Given the description of an element on the screen output the (x, y) to click on. 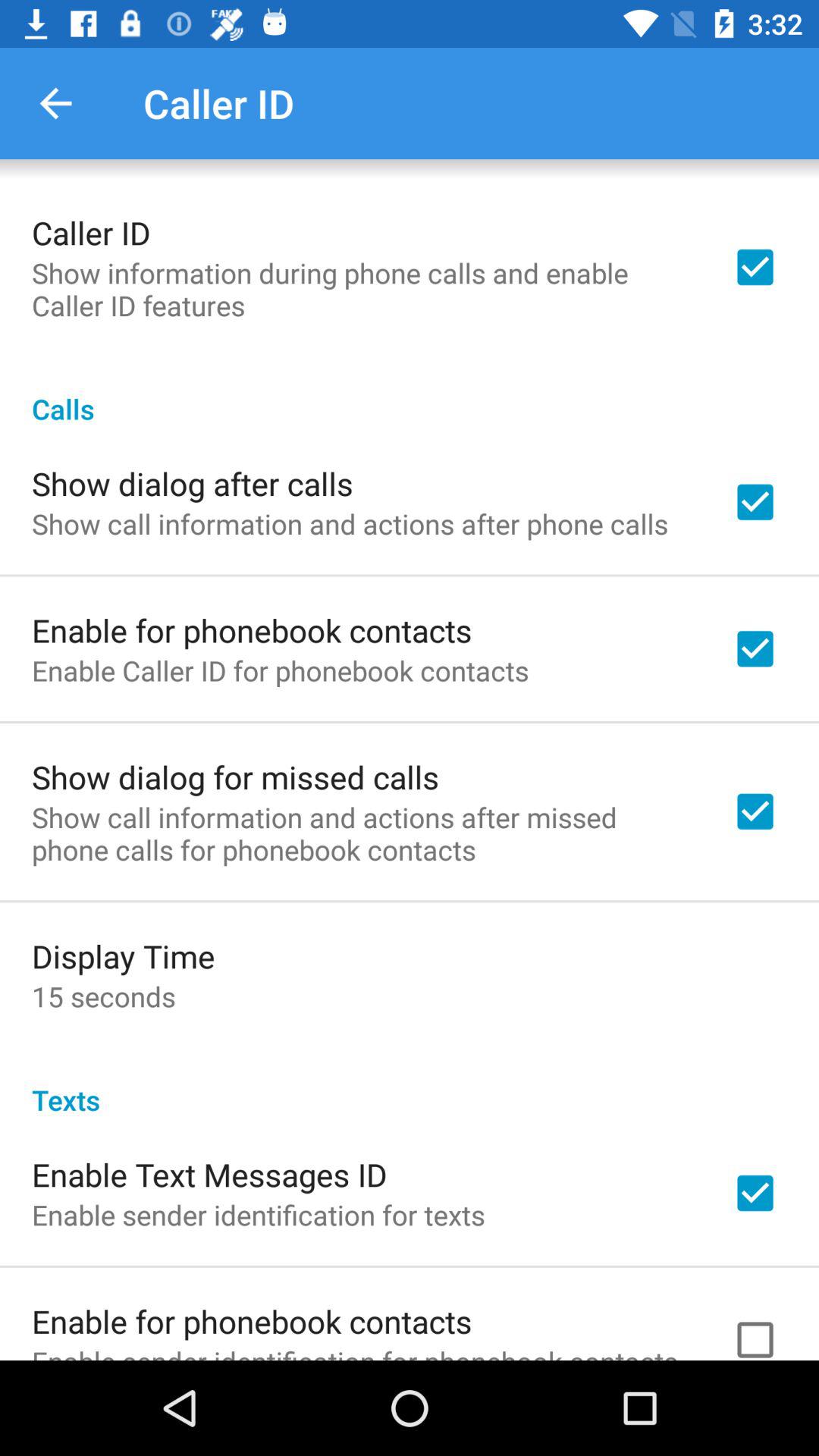
click the item below the display time (103, 996)
